Given the description of an element on the screen output the (x, y) to click on. 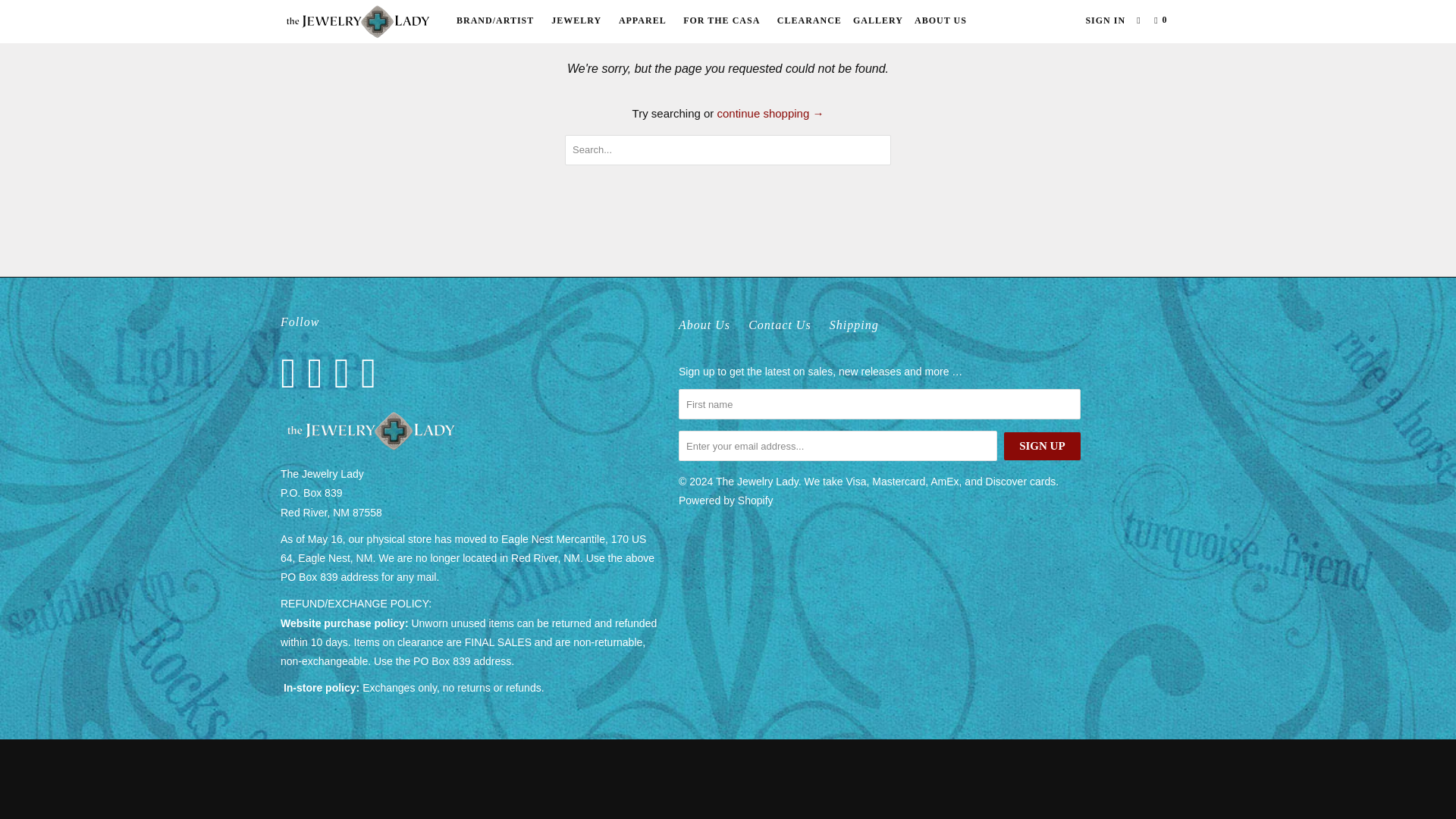
The Jewelry Lady (358, 21)
Sign Up (1042, 446)
My Account  (1104, 20)
